Given the description of an element on the screen output the (x, y) to click on. 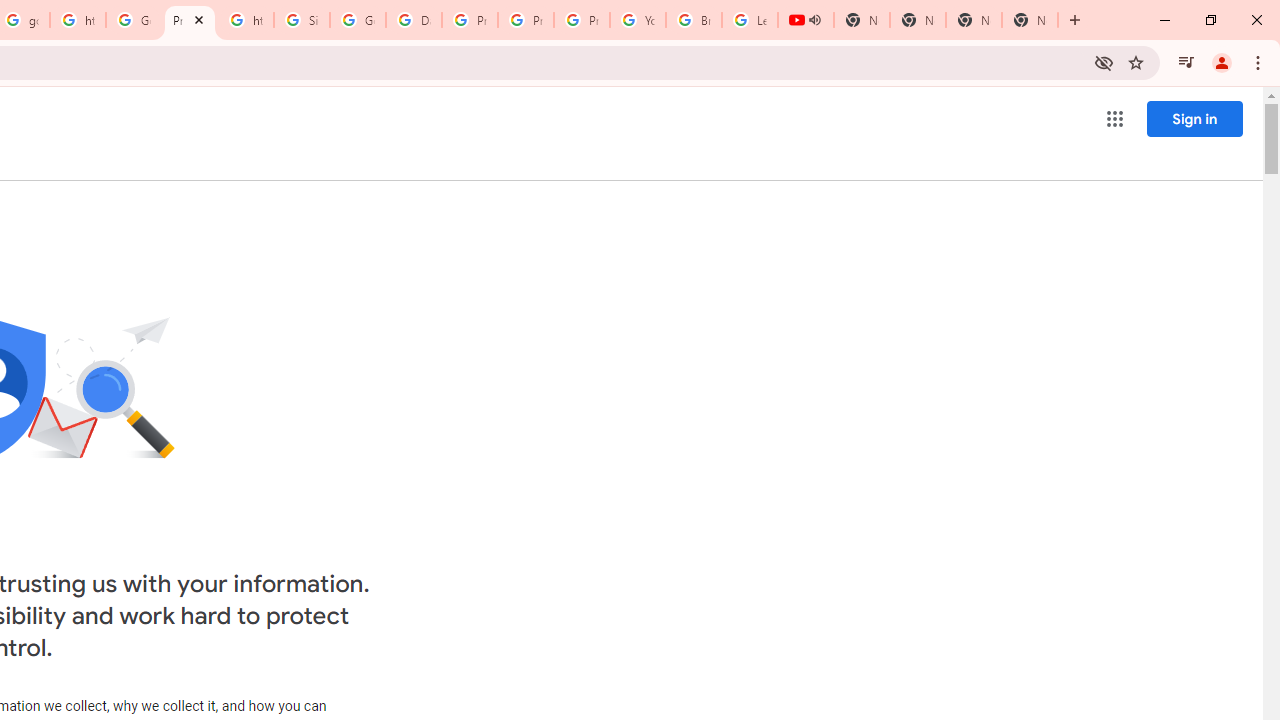
YouTube (637, 20)
https://scholar.google.com/ (245, 20)
